Given the description of an element on the screen output the (x, y) to click on. 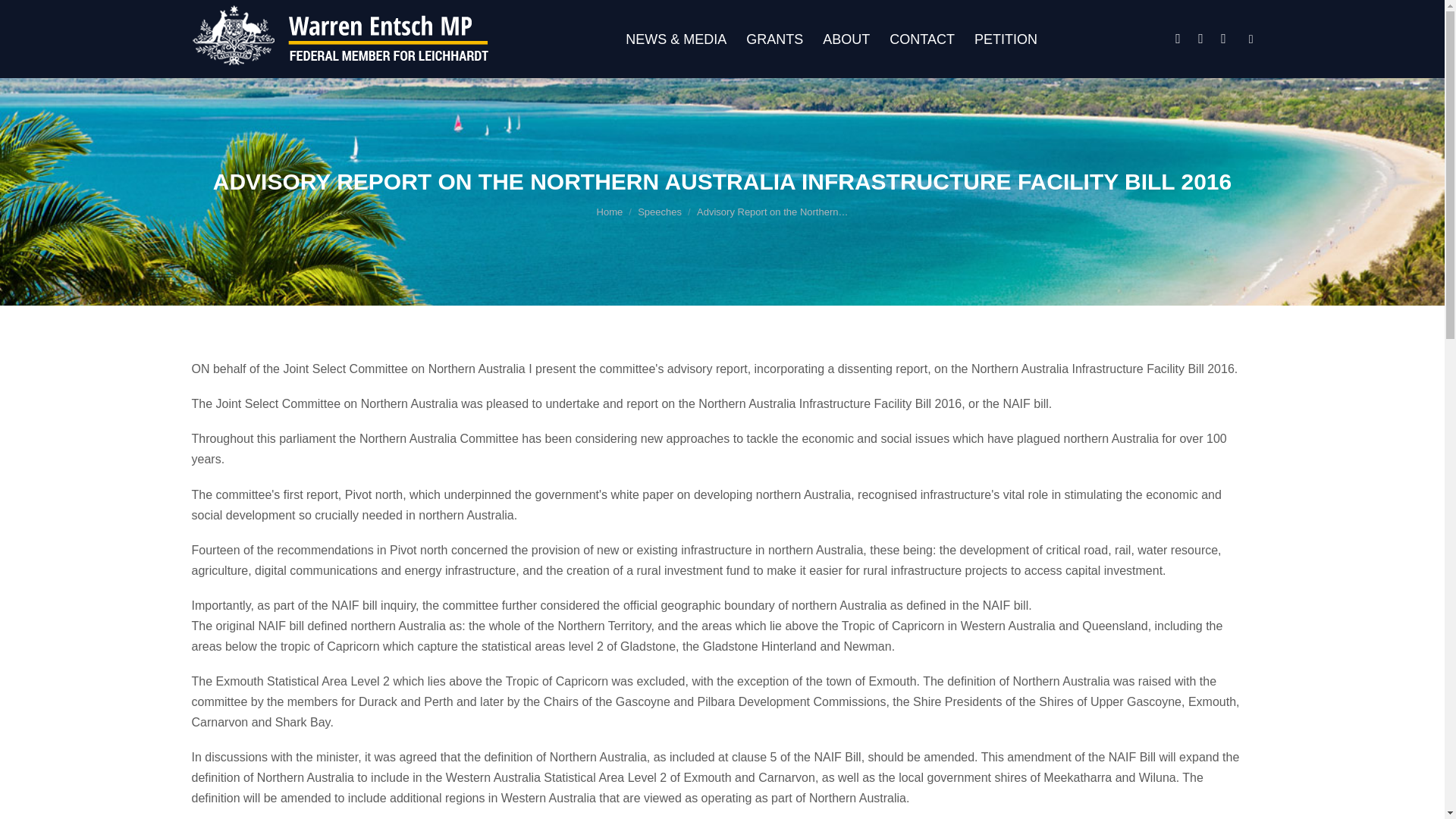
PETITION (1005, 38)
Go! (27, 18)
Instagram page opens in new window (1201, 38)
Facebook page opens in new window (1178, 38)
Home (609, 211)
CONTACT (922, 38)
GRANTS (774, 38)
Facebook page opens in new window (1178, 38)
YouTube page opens in new window (1223, 38)
ABOUT (845, 38)
Instagram page opens in new window (1201, 38)
Speeches (659, 211)
YouTube page opens in new window (1223, 38)
